Given the description of an element on the screen output the (x, y) to click on. 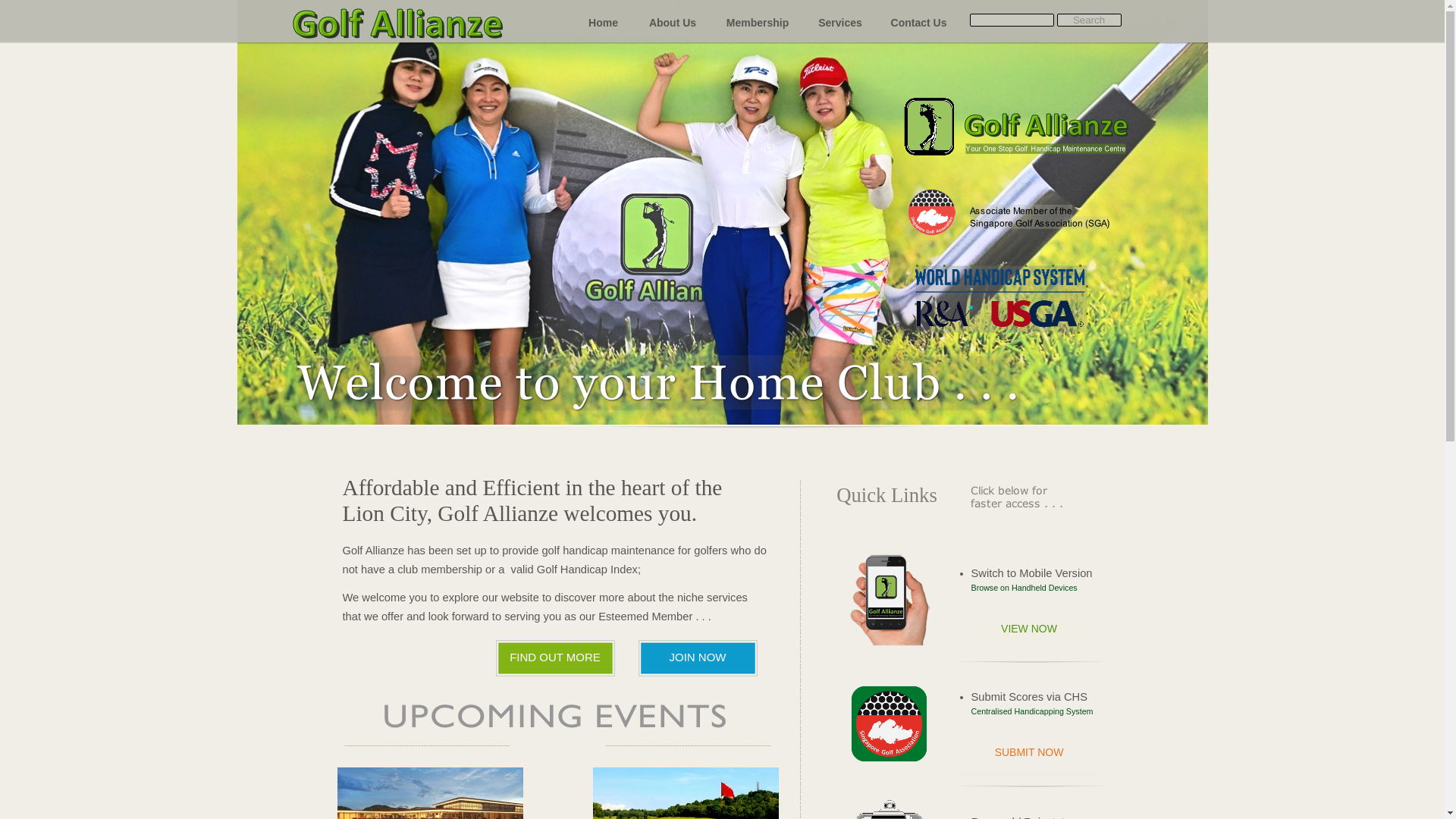
VIEW NOW (1028, 630)
SUBMIT NOW (1028, 754)
Search (1089, 19)
JOIN NOW (698, 657)
FIND OUT MORE (555, 657)
